Given the description of an element on the screen output the (x, y) to click on. 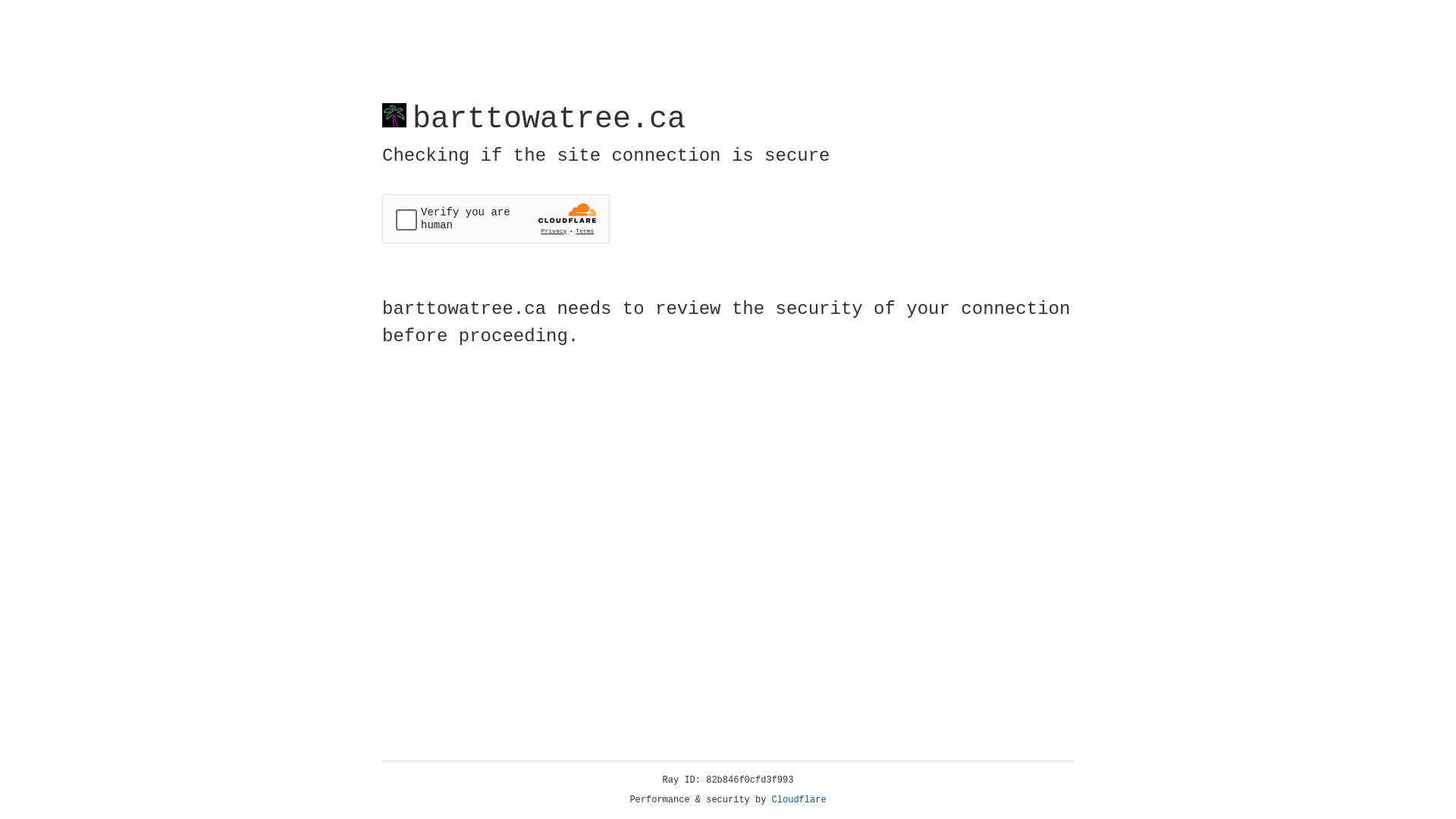
Cloudflare Element type: text (798, 799)
Widget containing a Cloudflare security challenge Element type: hover (495, 218)
